Given the description of an element on the screen output the (x, y) to click on. 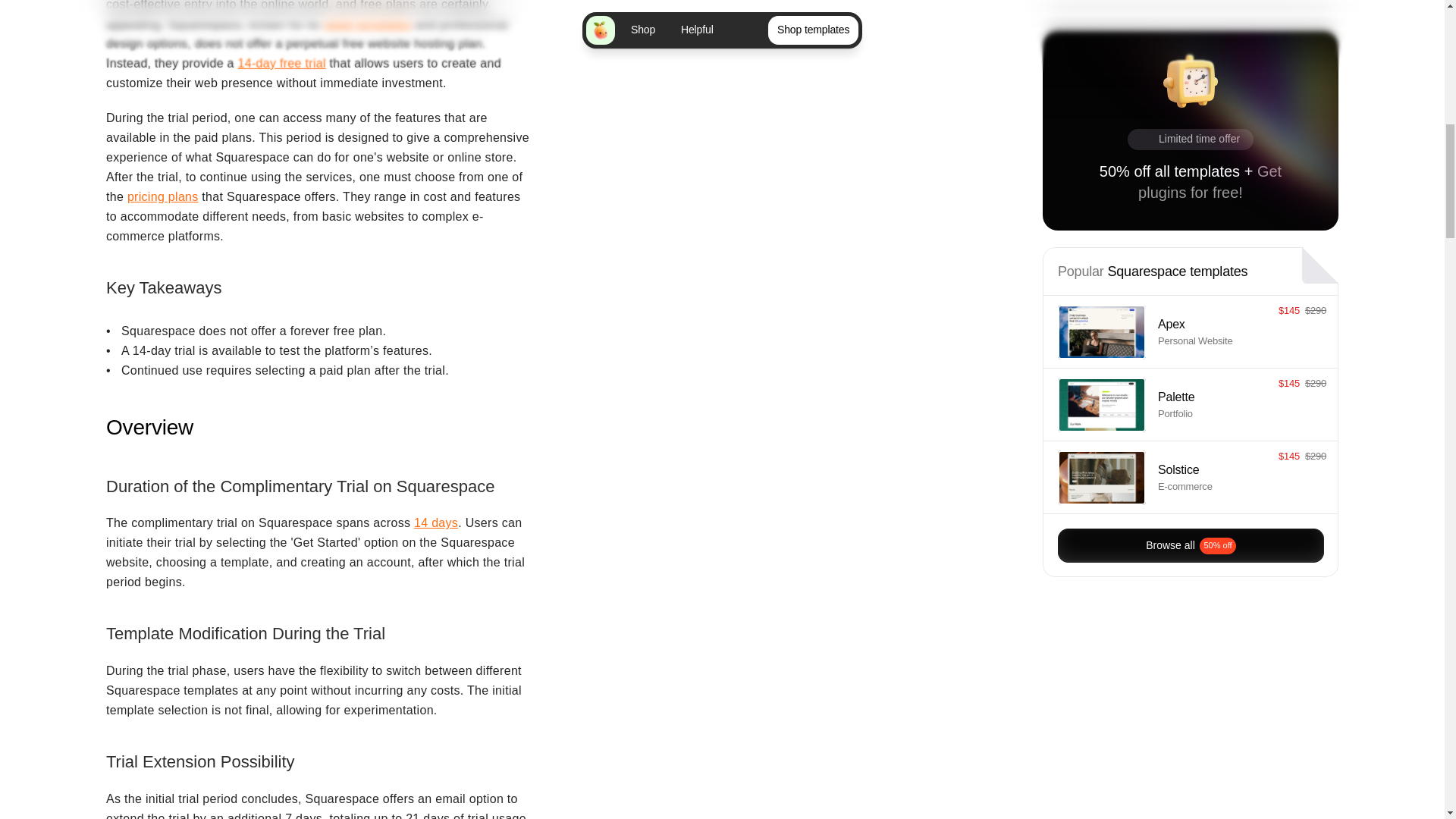
sleek templates (367, 23)
pricing plans (163, 196)
14-day free trial (282, 62)
14 days (435, 522)
